Given the description of an element on the screen output the (x, y) to click on. 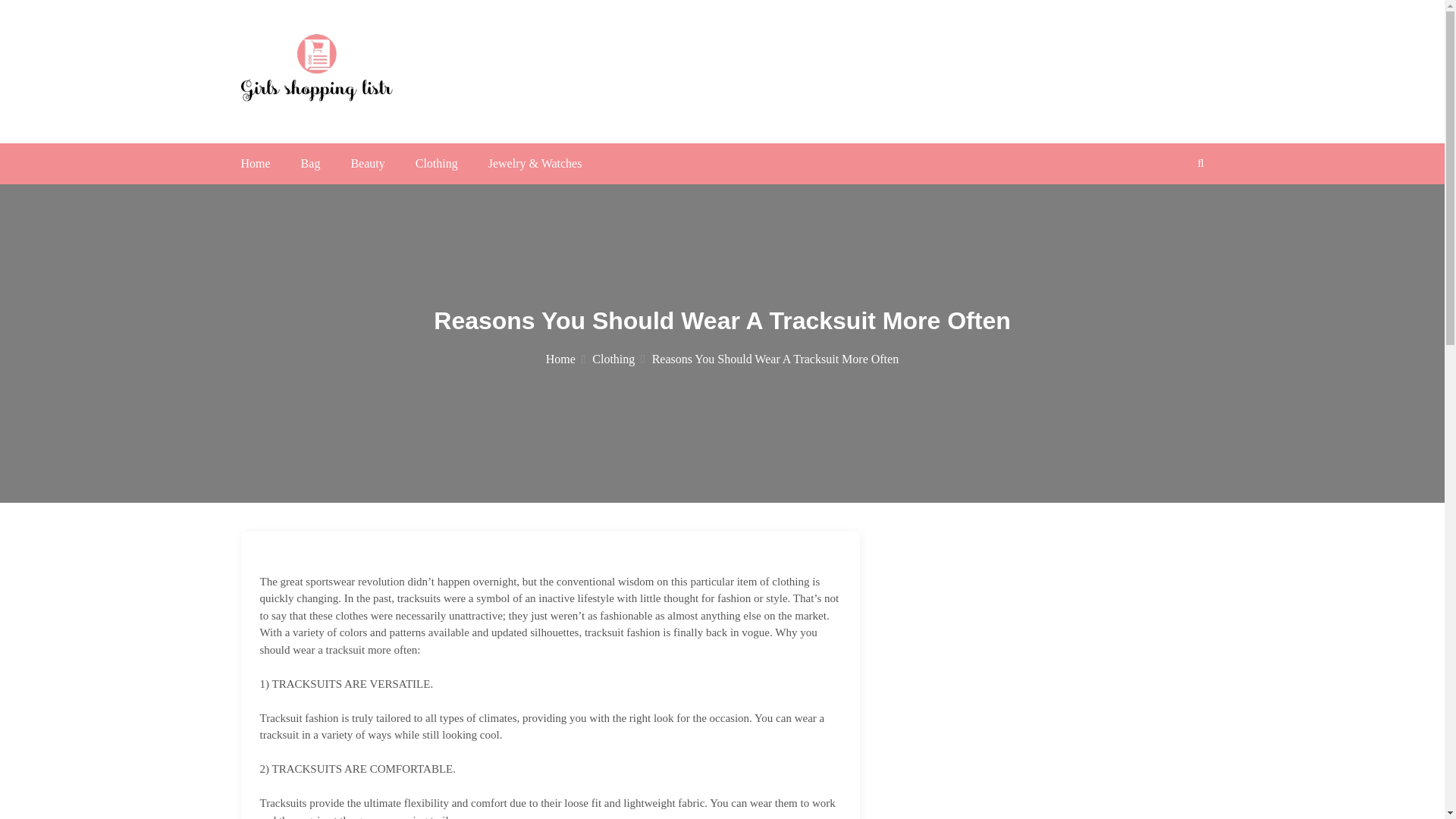
Clothing (436, 163)
Beauty (367, 163)
Bag (310, 163)
Home (255, 163)
Home (565, 358)
Clothing (618, 358)
